Given the description of an element on the screen output the (x, y) to click on. 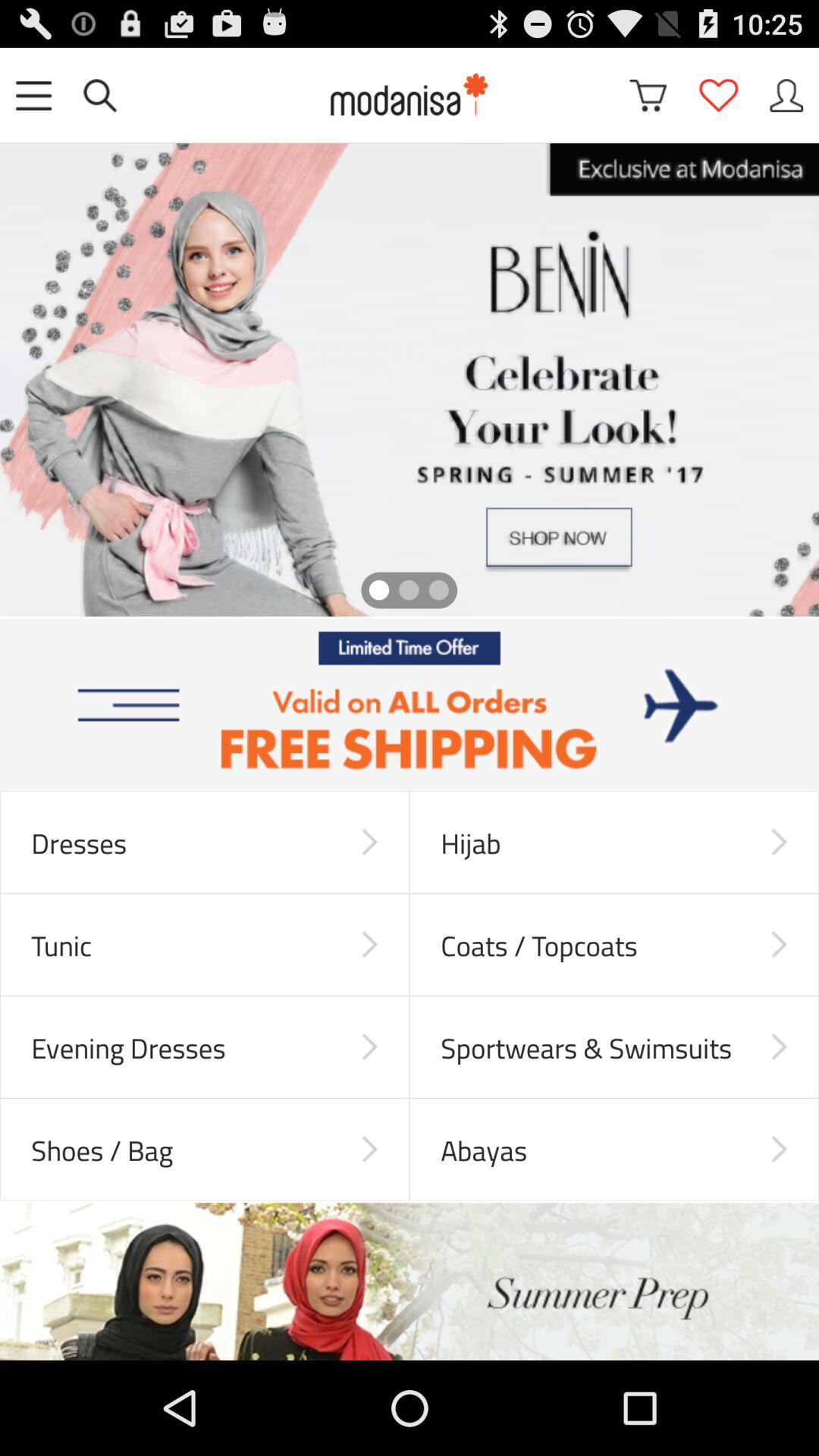
share the article (409, 704)
